Given the description of an element on the screen output the (x, y) to click on. 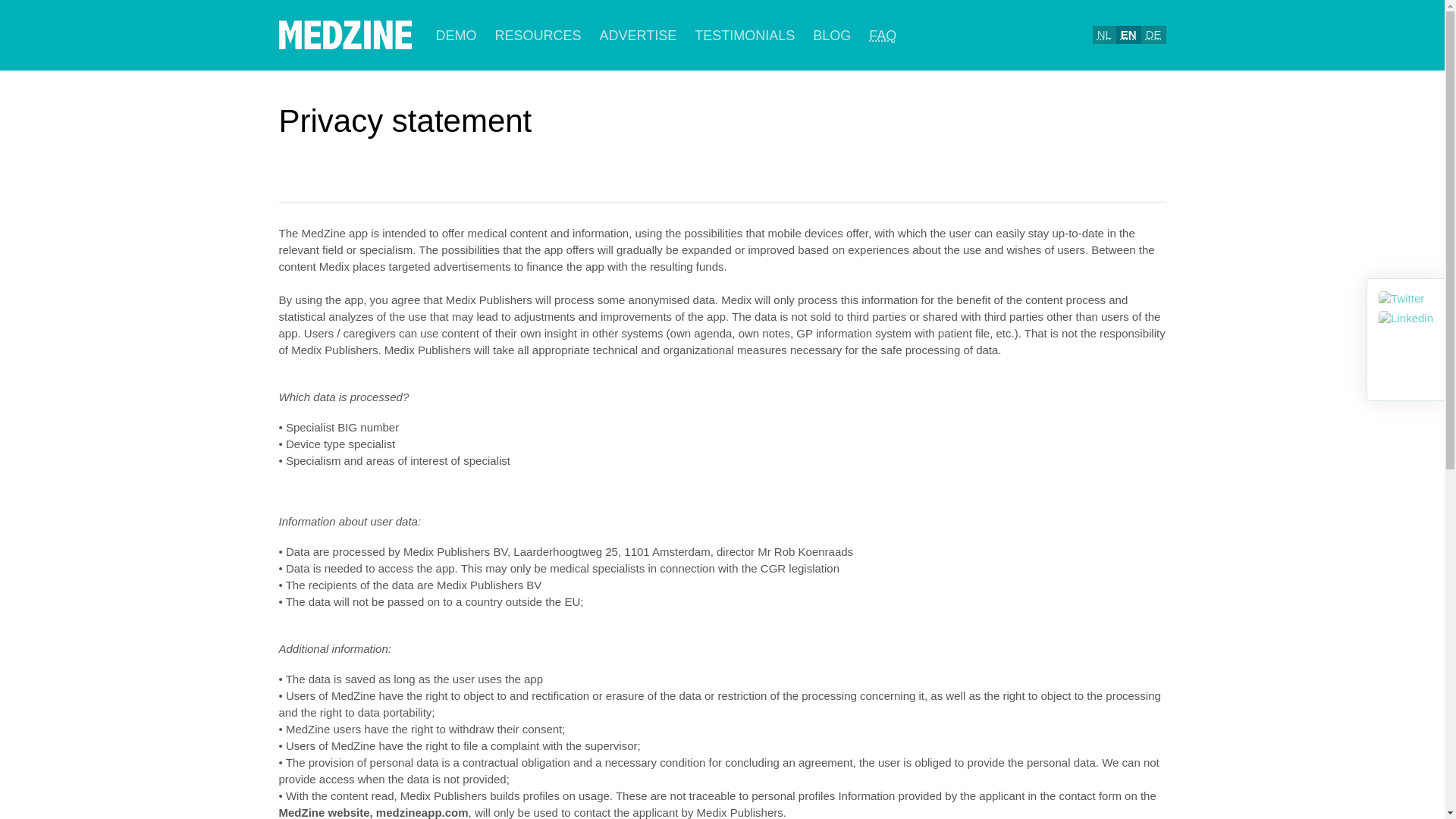
Download in Google Play (1114, 122)
DE (1153, 34)
DEMO (455, 35)
ADVERTISE (638, 35)
Nederlands (1104, 33)
FAQ (882, 35)
TESTIMONIALS (744, 35)
MedZine (344, 34)
Download on Google Play (1114, 122)
Deutsch (1153, 33)
